Given the description of an element on the screen output the (x, y) to click on. 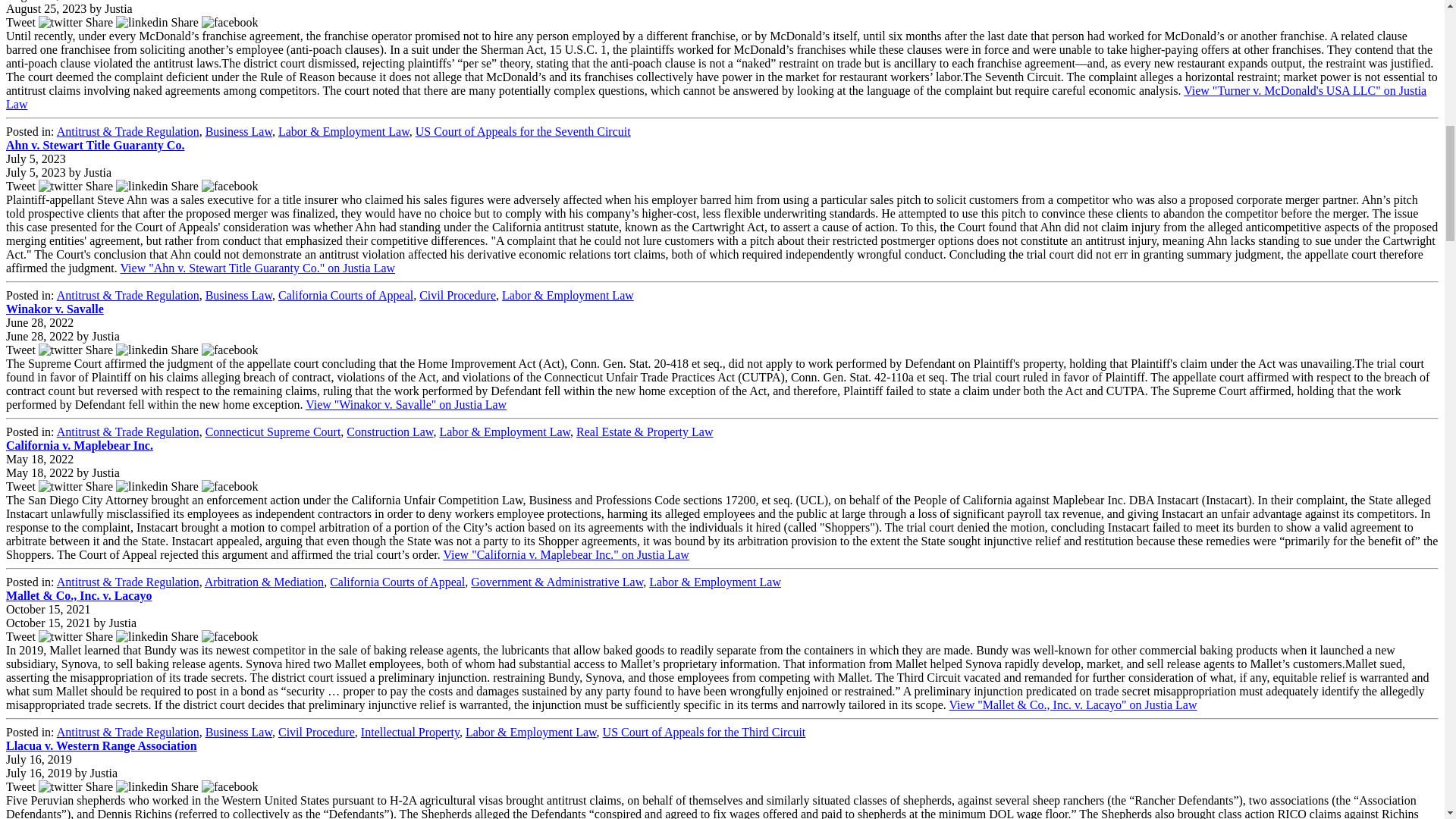
View all posts in Business Law (238, 131)
Permalink to Ahn v. Stewart Title Guaranty Co. (94, 144)
